Given the description of an element on the screen output the (x, y) to click on. 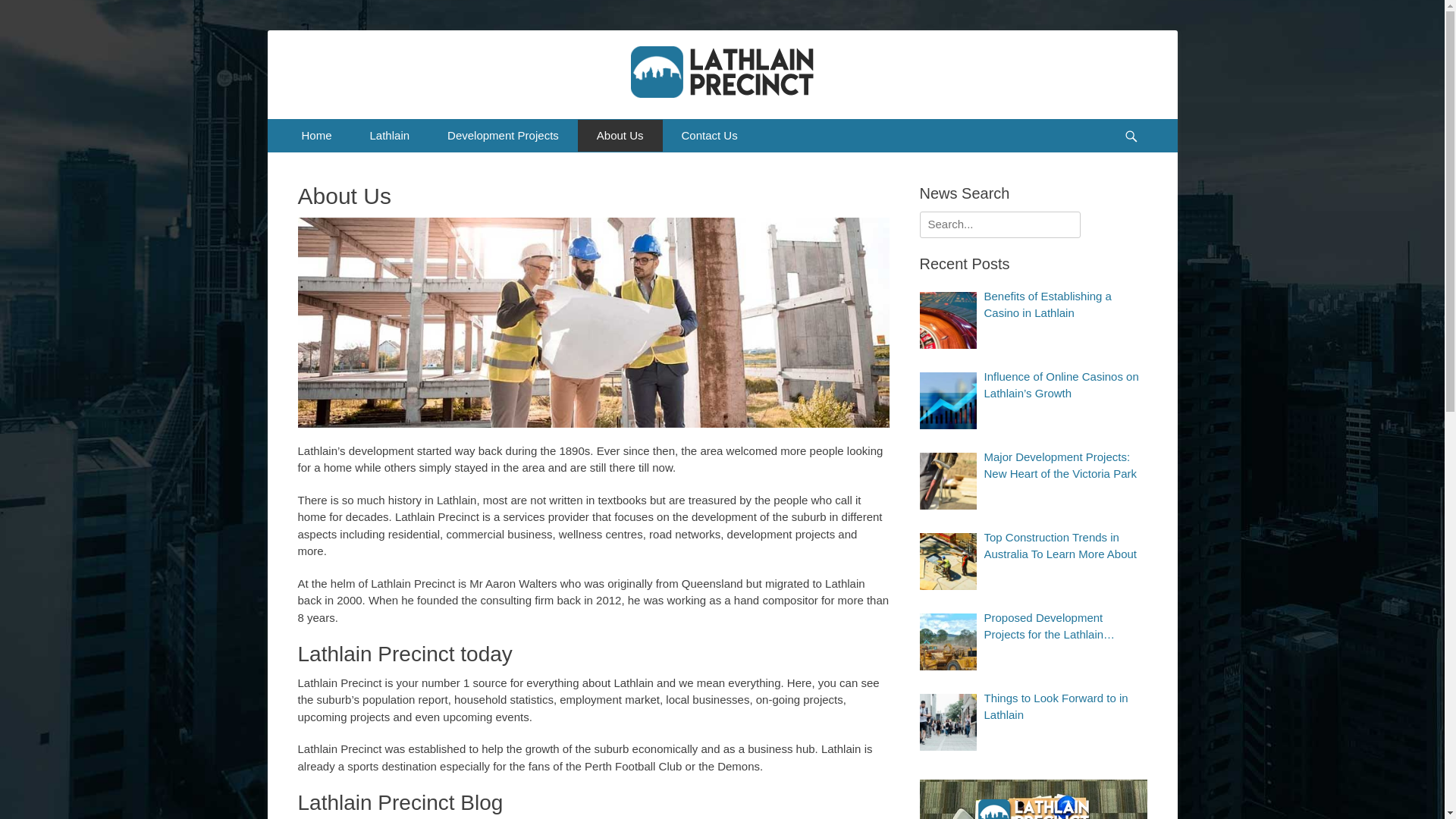
Top Construction Trends in Australia To Learn More About Element type: text (1065, 546)
Proposed Development Projects for the Lathlain Precinct Element type: text (1065, 626)
Things to Look Forward to in Lathlain Element type: text (1065, 707)
Major Development Projects: New Heart of the Victoria Park Element type: hover (947, 479)
Development Projects Element type: text (502, 135)
About Us Element type: text (619, 135)
Search Element type: text (24, 9)
Top Construction Trends in Australia To Learn More About Element type: hover (947, 560)
Search for: Element type: hover (999, 224)
Major Development Projects: New Heart of the Victoria Park Element type: text (1065, 465)
Lathlain Element type: text (390, 135)
Search Element type: text (1137, 118)
Benefits of Establishing a Casino in Lathlain Element type: text (1065, 305)
Lathlain Precinct Element type: text (419, 63)
Proposed Development Projects for the Lathlain Precinct Element type: hover (947, 640)
Benefits of Establishing a Casino in Lathlain Element type: hover (947, 319)
Home Element type: text (316, 135)
Contact Us Element type: text (709, 135)
Things to Look Forward to in Lathlain Element type: hover (947, 721)
